Given the description of an element on the screen output the (x, y) to click on. 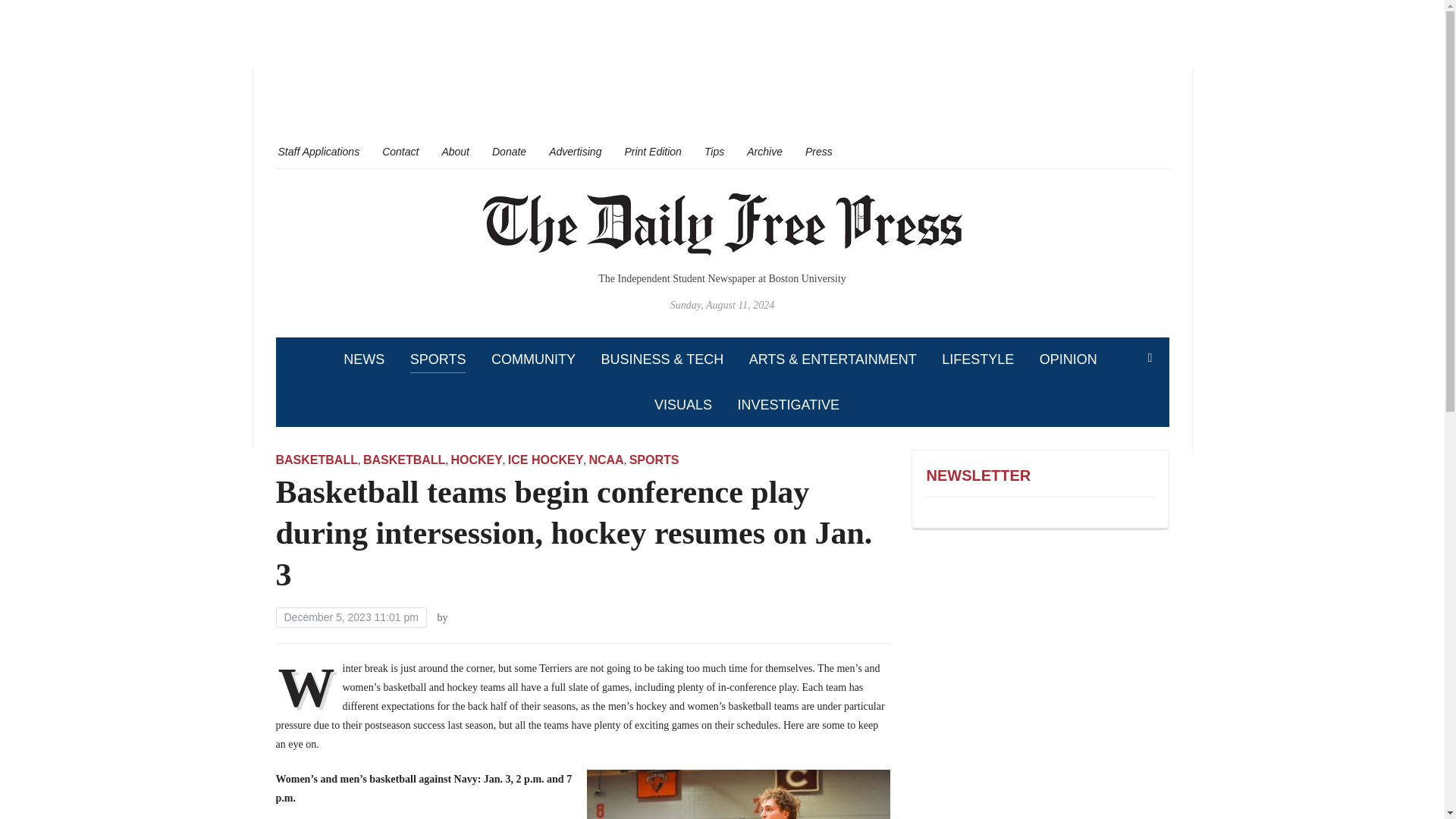
About (454, 150)
Search (1149, 358)
Contact (400, 150)
Print Edition (652, 150)
Advertising (574, 150)
Press (818, 150)
Staff Applications (318, 150)
Archive (764, 150)
Donate (508, 150)
